Given the description of an element on the screen output the (x, y) to click on. 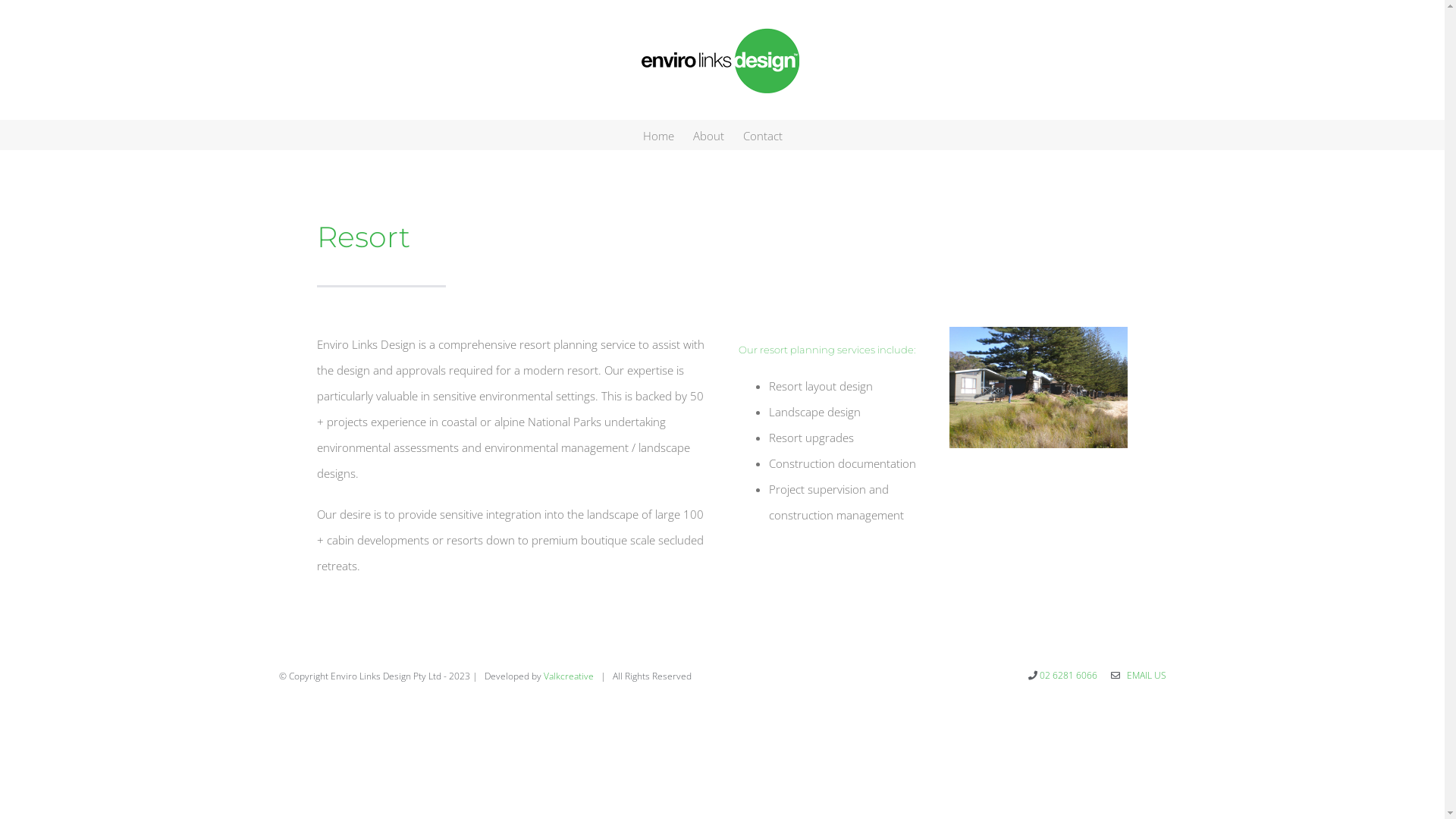
02 6281 6066 Element type: text (1067, 674)
Home Element type: text (658, 134)
Valkcreative Element type: text (567, 675)
Contact Element type: text (762, 134)
About Element type: text (708, 134)
MurramarangEcoTourism2 Element type: hover (1038, 387)
  EMAIL US Element type: text (1144, 674)
